Given the description of an element on the screen output the (x, y) to click on. 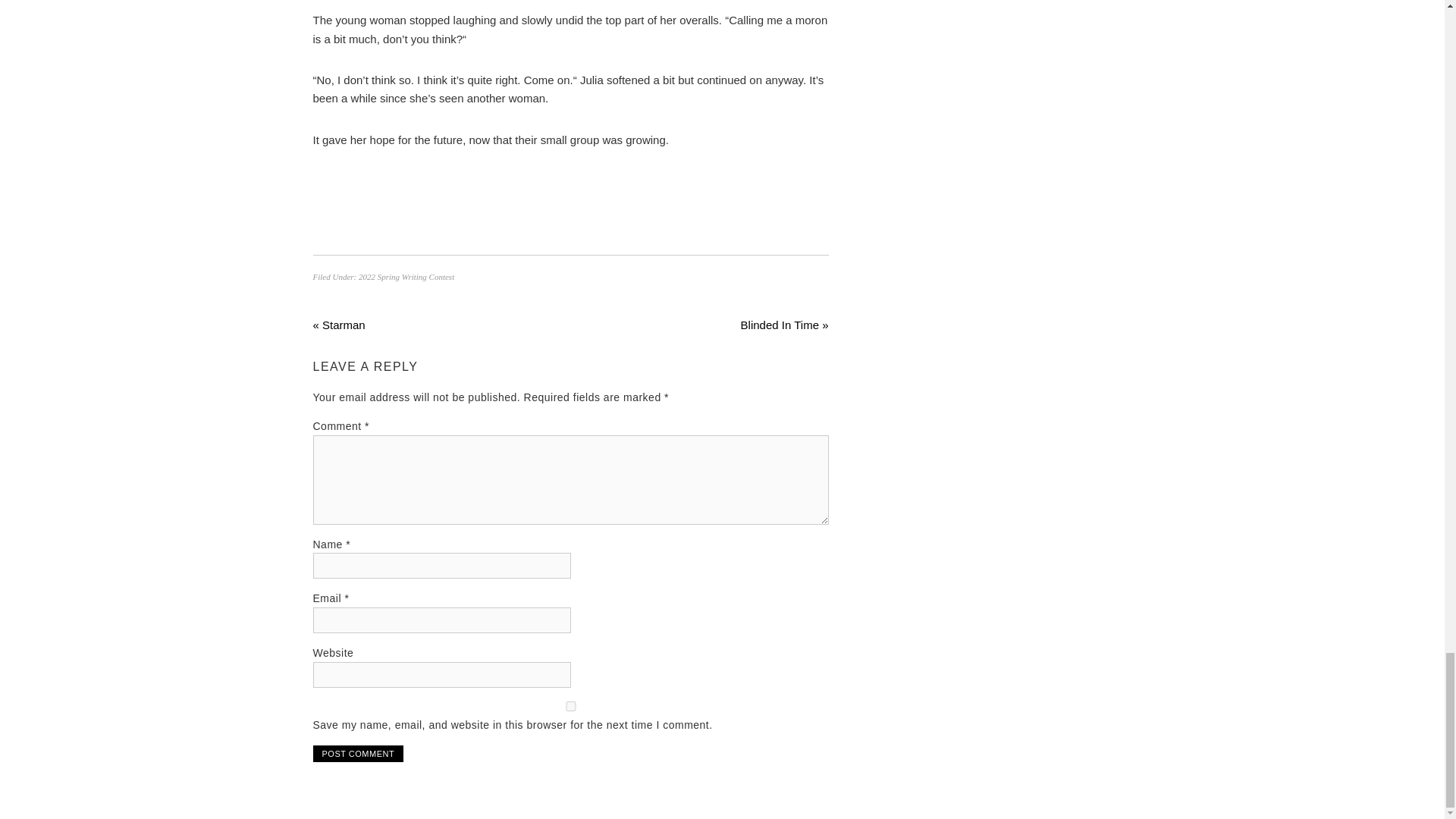
2022 Spring Writing Contest (406, 276)
Post Comment (358, 753)
Post Comment (358, 753)
yes (570, 706)
